Given the description of an element on the screen output the (x, y) to click on. 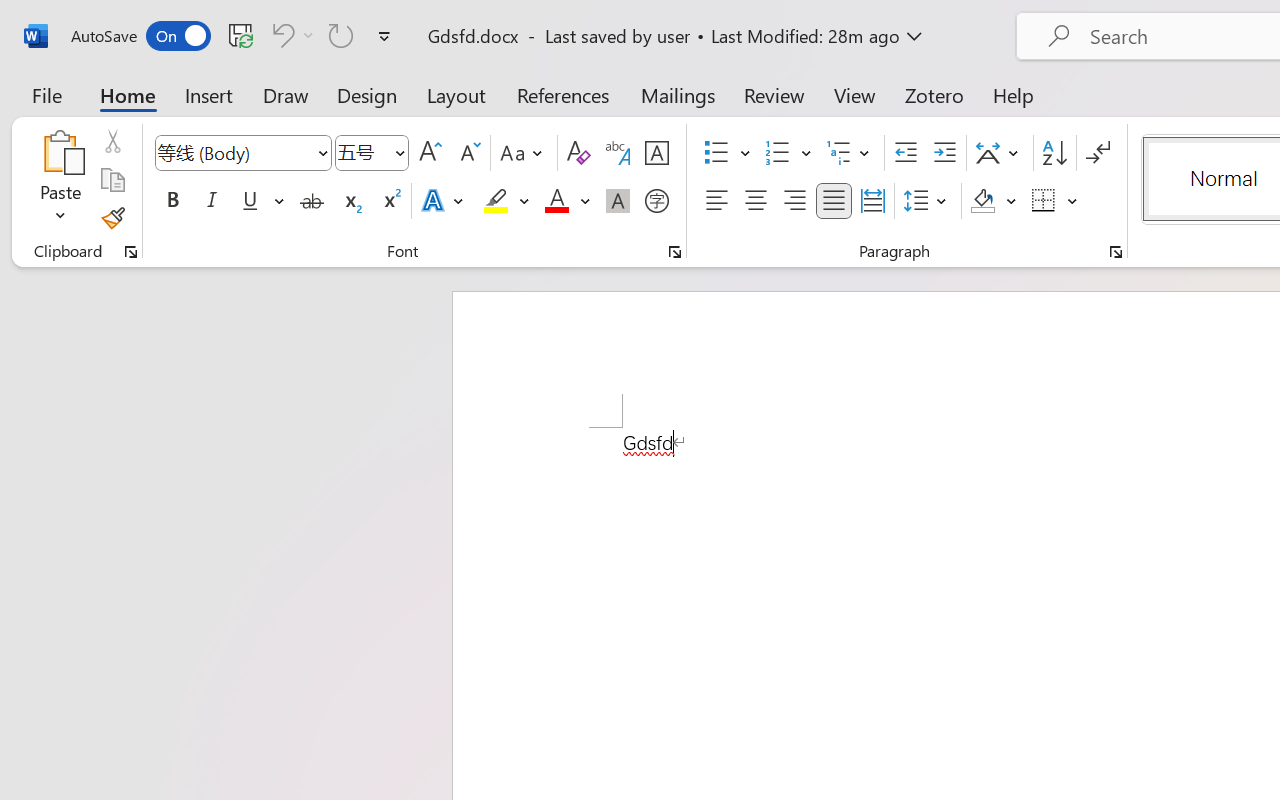
Font Color Red (556, 201)
Can't Undo (290, 35)
